Given the description of an element on the screen output the (x, y) to click on. 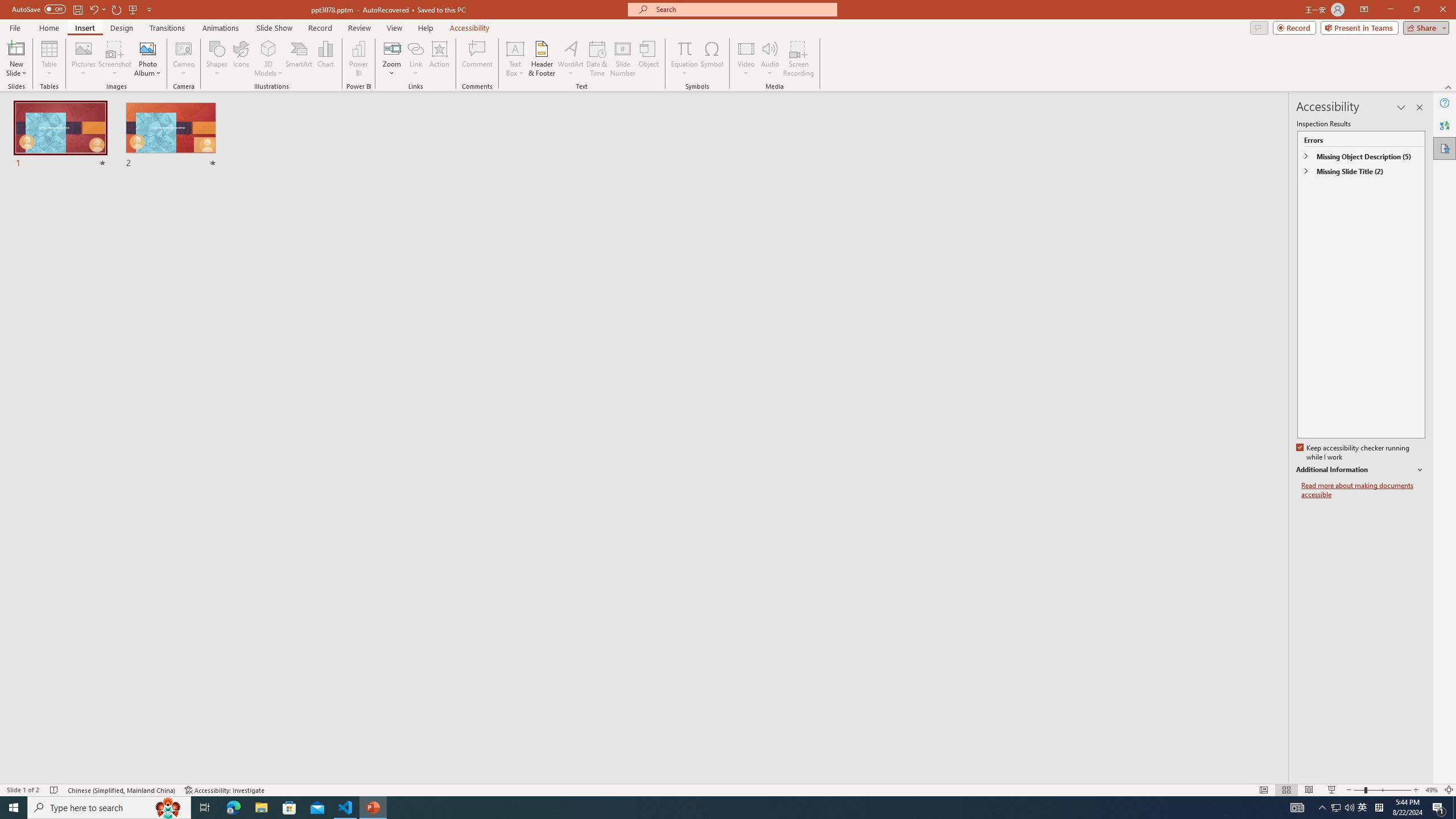
3D Models (268, 58)
Photo Album... (147, 58)
Link (415, 48)
Keep accessibility checker running while I work (1353, 452)
Date & Time... (596, 58)
Screen Recording... (798, 58)
